Given the description of an element on the screen output the (x, y) to click on. 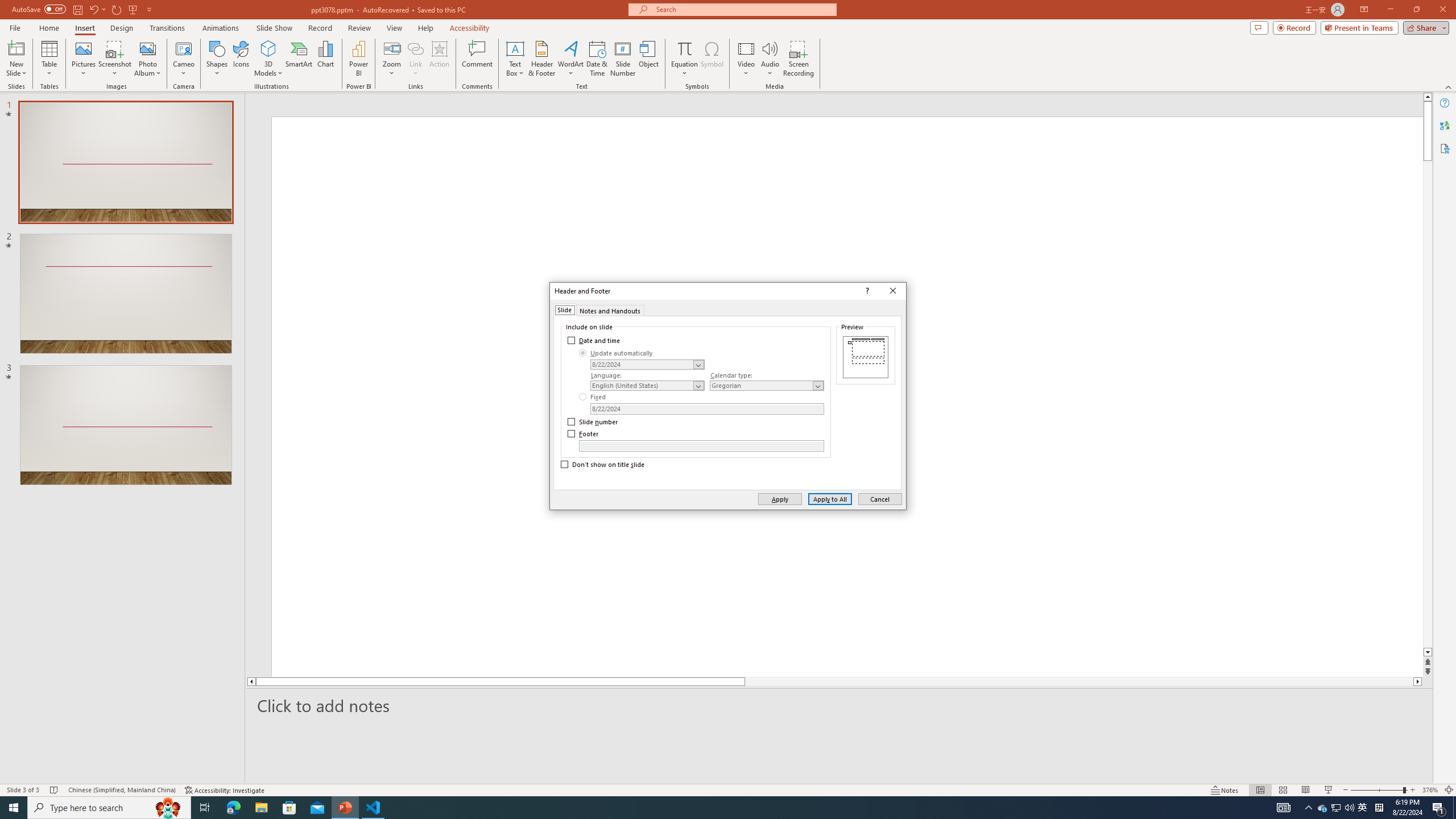
Context help (866, 290)
Format Date and Time (646, 364)
3D Models (268, 48)
